Given the description of an element on the screen output the (x, y) to click on. 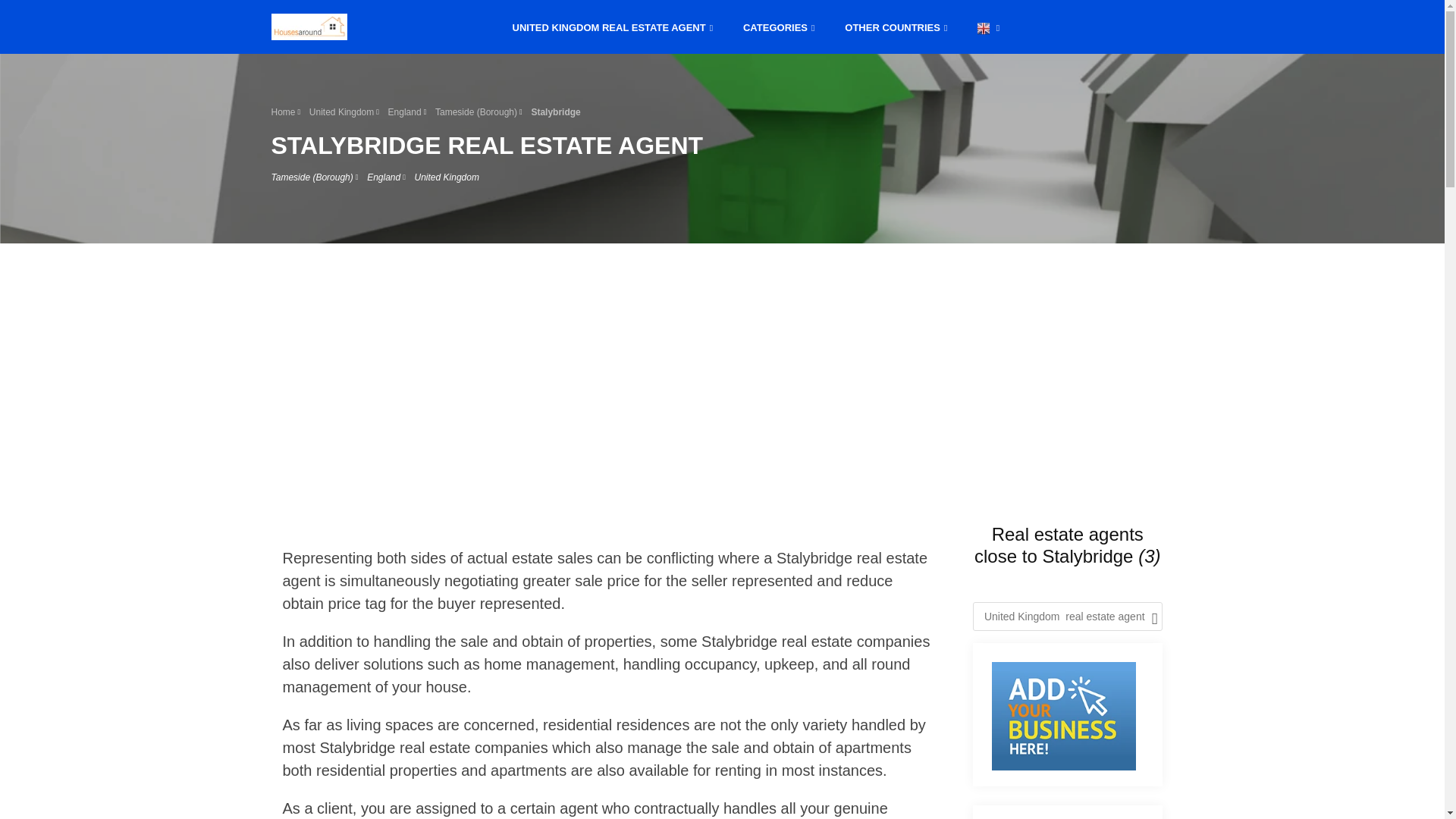
CATEGORIES (778, 25)
UNITED KINGDOM REAL ESTATE AGENT (612, 25)
OTHER COUNTRIES (895, 25)
